Given the description of an element on the screen output the (x, y) to click on. 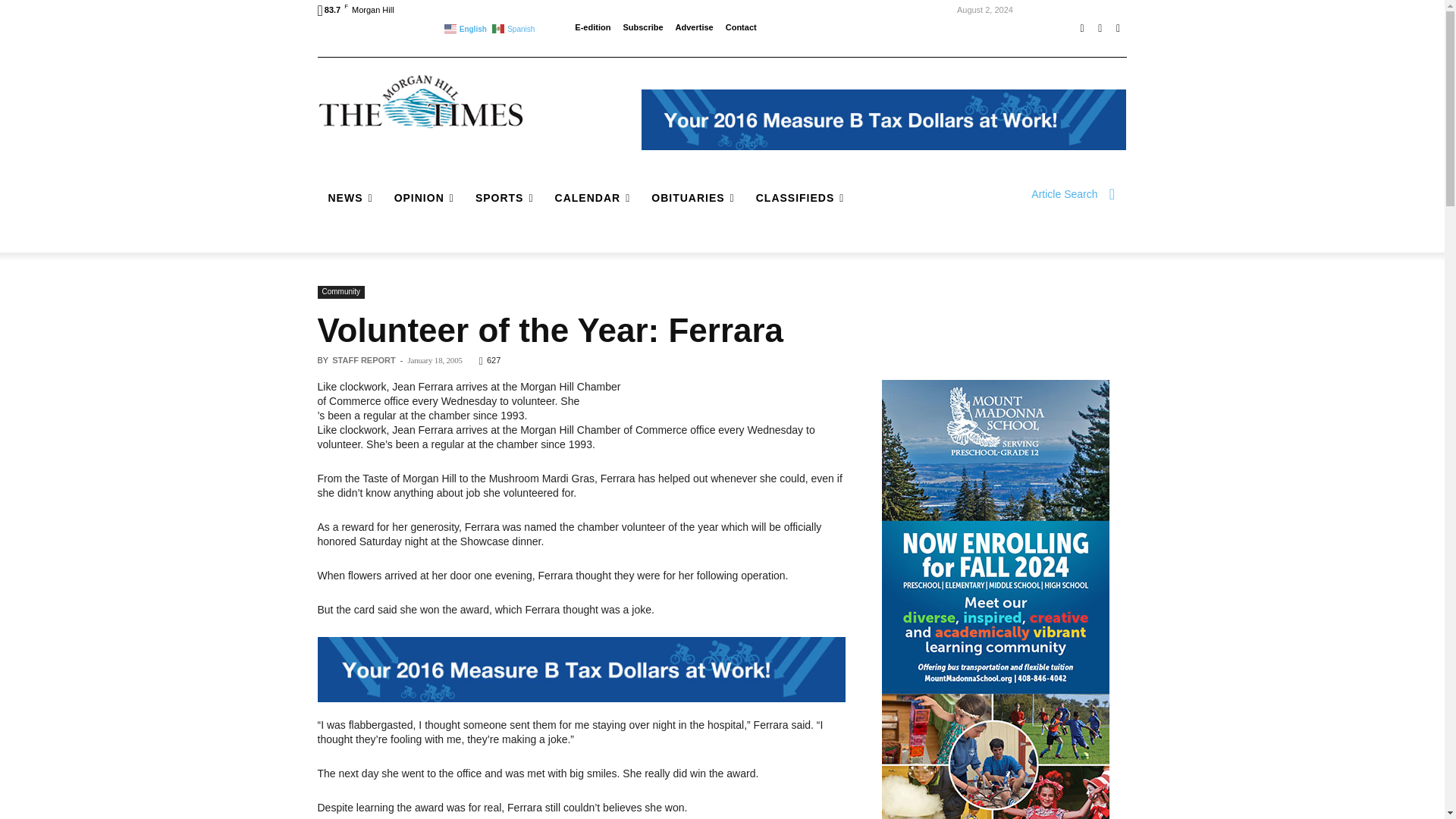
Facebook (1081, 28)
Instagram (1099, 28)
E-edition (592, 27)
Contact (741, 27)
English (466, 27)
Spanish (514, 27)
Subscribe (642, 27)
Advertise (694, 27)
Twitter (1117, 28)
